Given the description of an element on the screen output the (x, y) to click on. 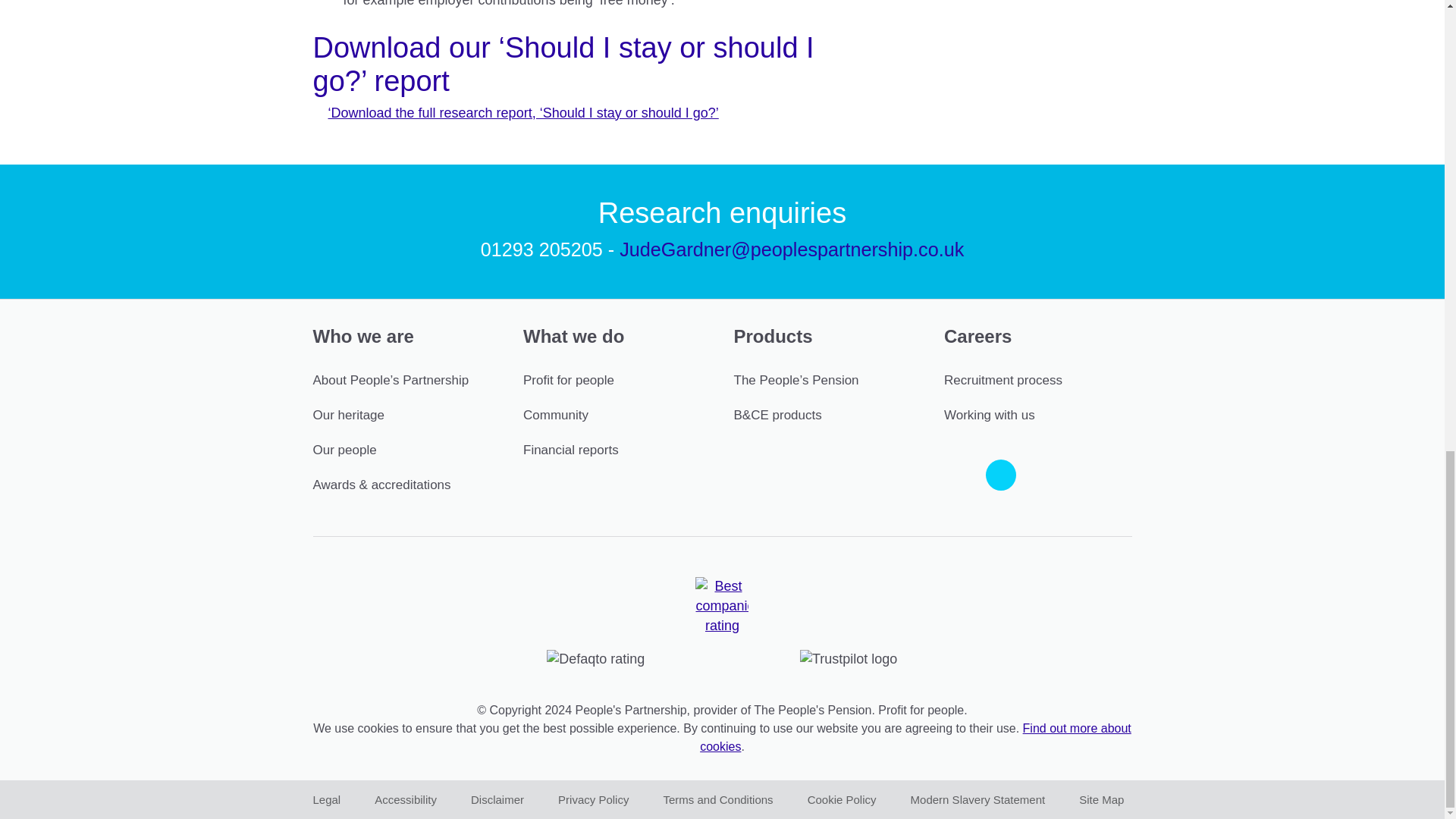
Our heritage (348, 414)
Working with us (989, 414)
Community (555, 414)
Profit for people (568, 380)
Recruitment process (1002, 380)
Financial reports (570, 450)
Our people (344, 450)
